Given the description of an element on the screen output the (x, y) to click on. 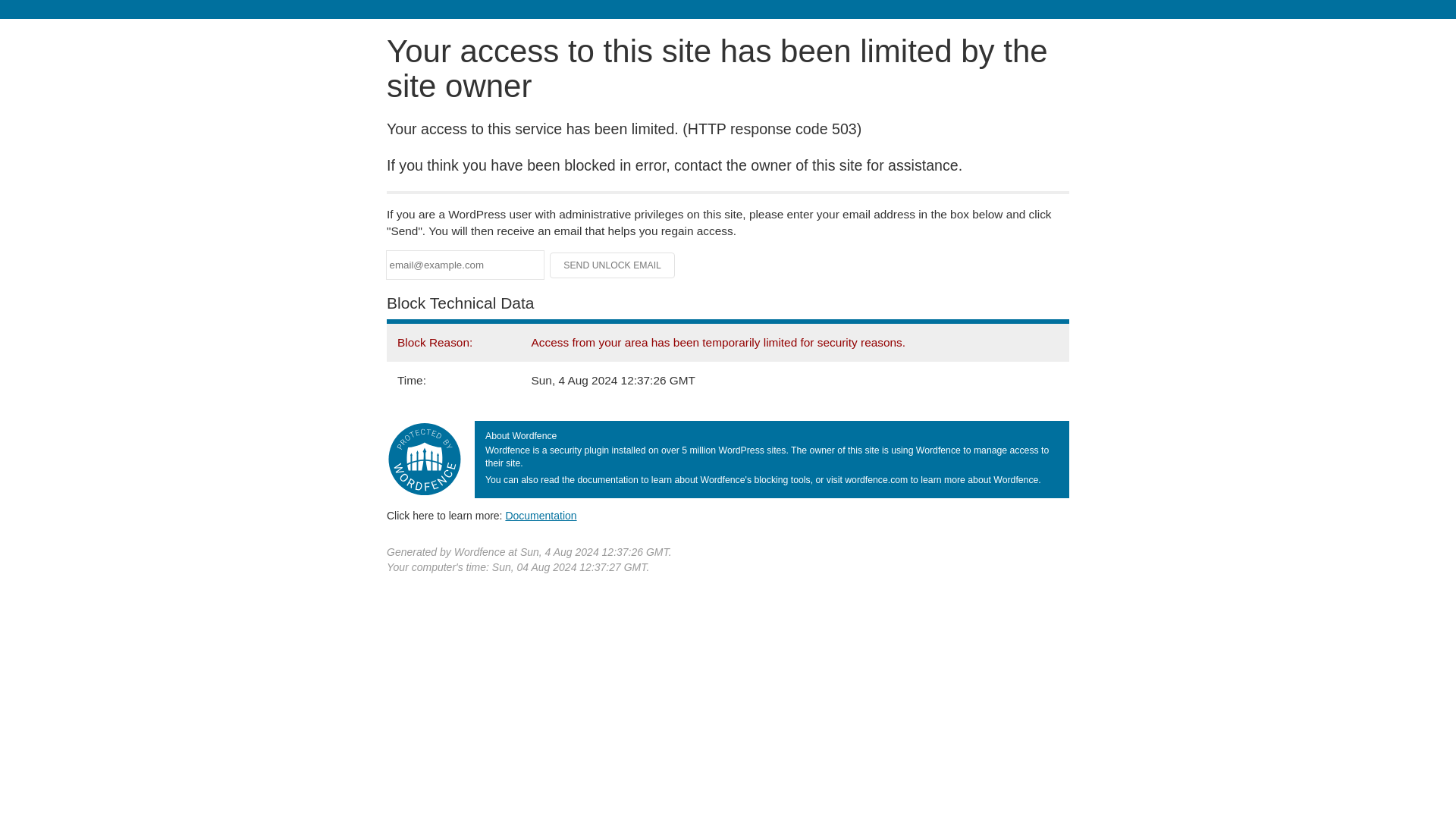
Documentation (540, 515)
Send Unlock Email (612, 265)
Send Unlock Email (612, 265)
